Given the description of an element on the screen output the (x, y) to click on. 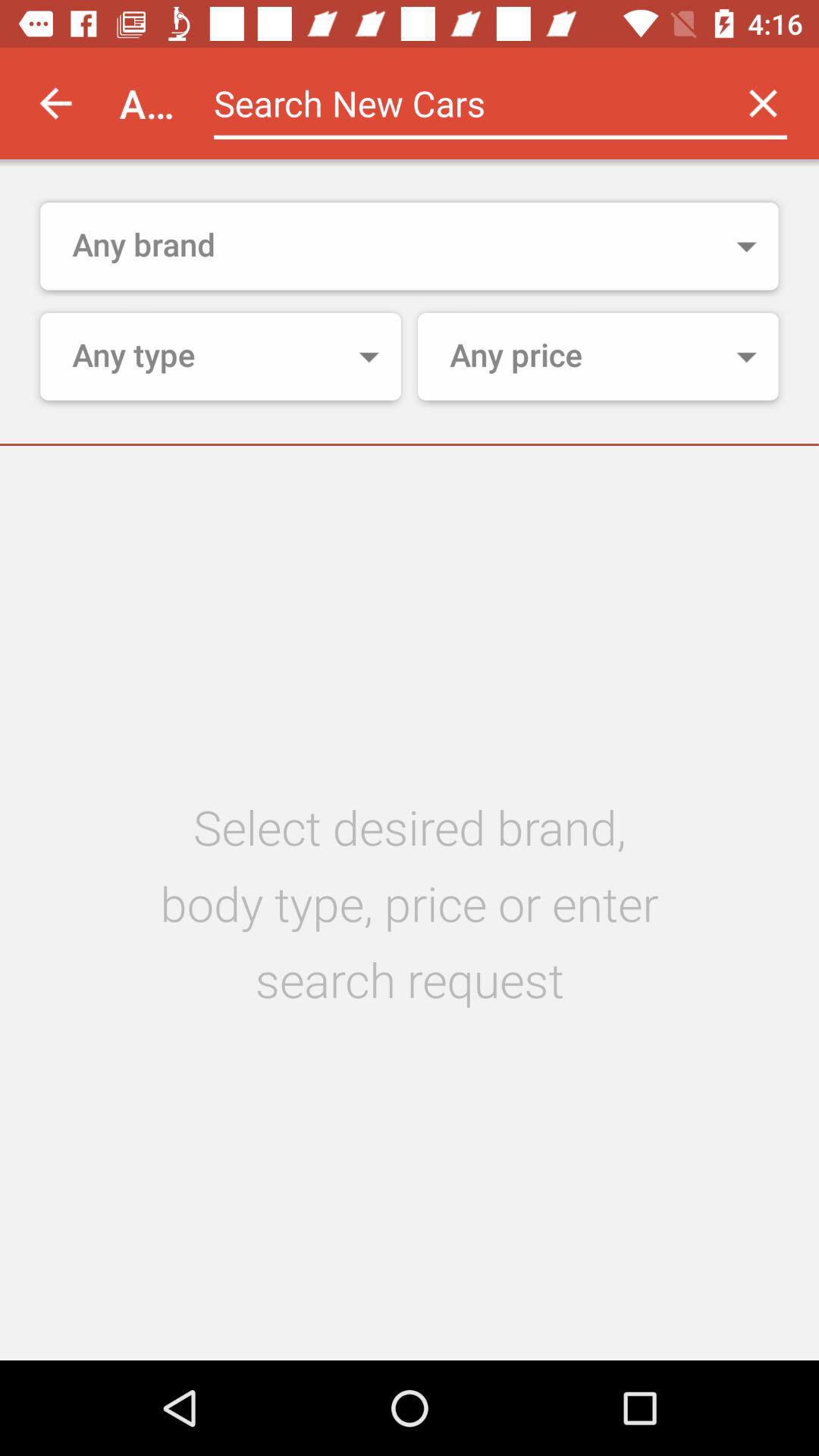
click icon to the left of autoportal (55, 103)
